Given the description of an element on the screen output the (x, y) to click on. 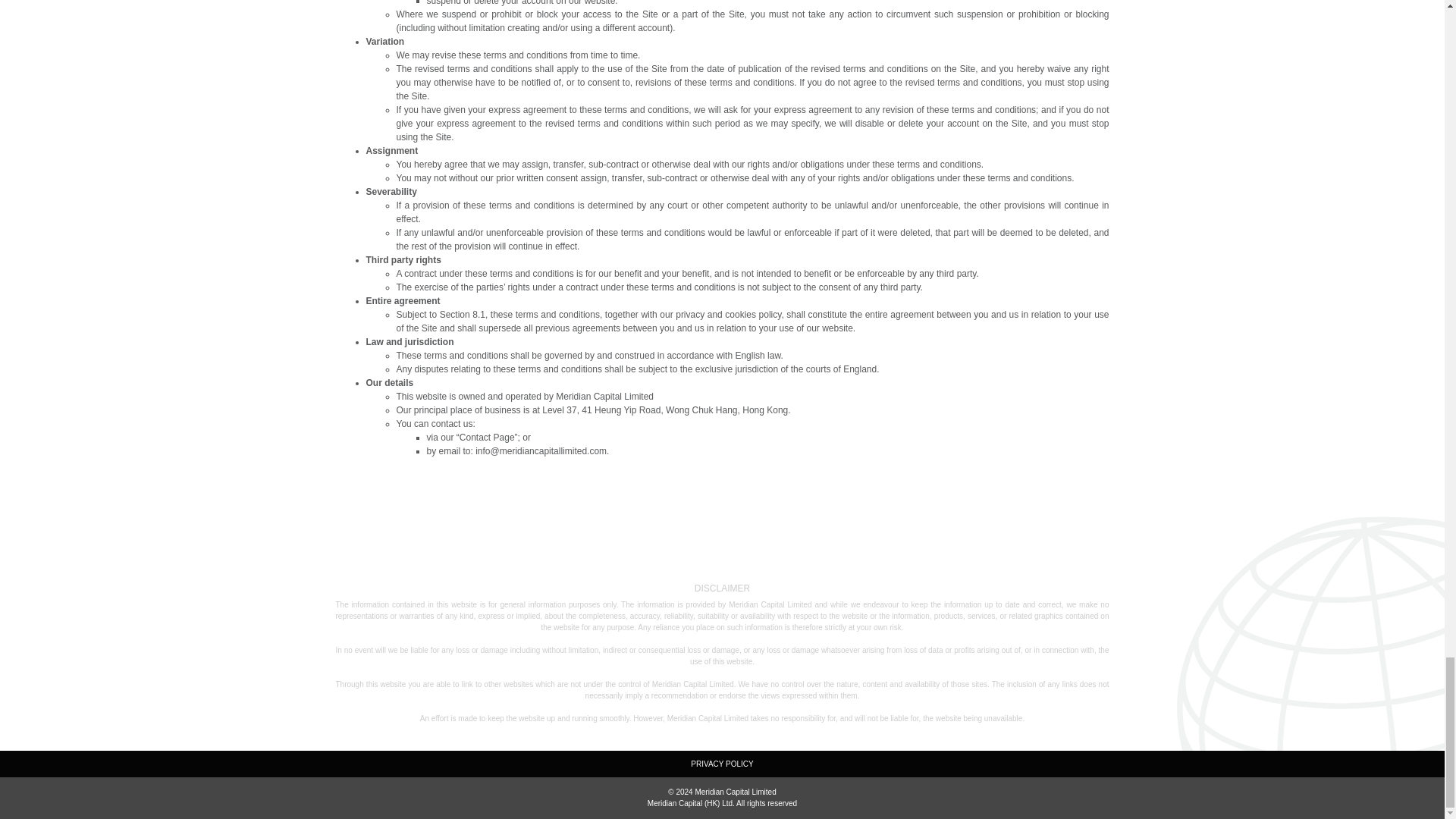
PRIVACY POLICY (721, 764)
